Given the description of an element on the screen output the (x, y) to click on. 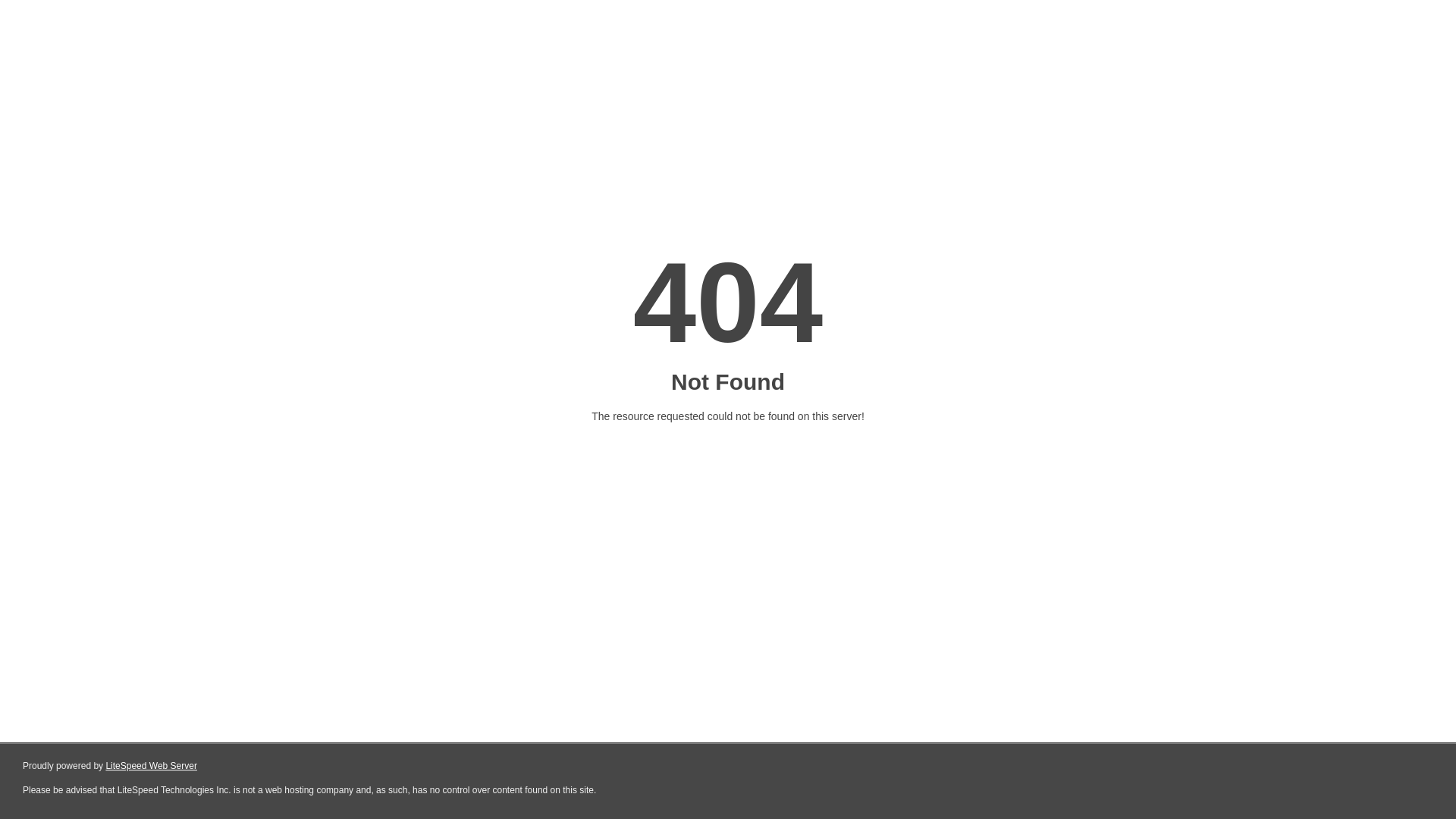
LiteSpeed Web Server Element type: text (151, 765)
